Given the description of an element on the screen output the (x, y) to click on. 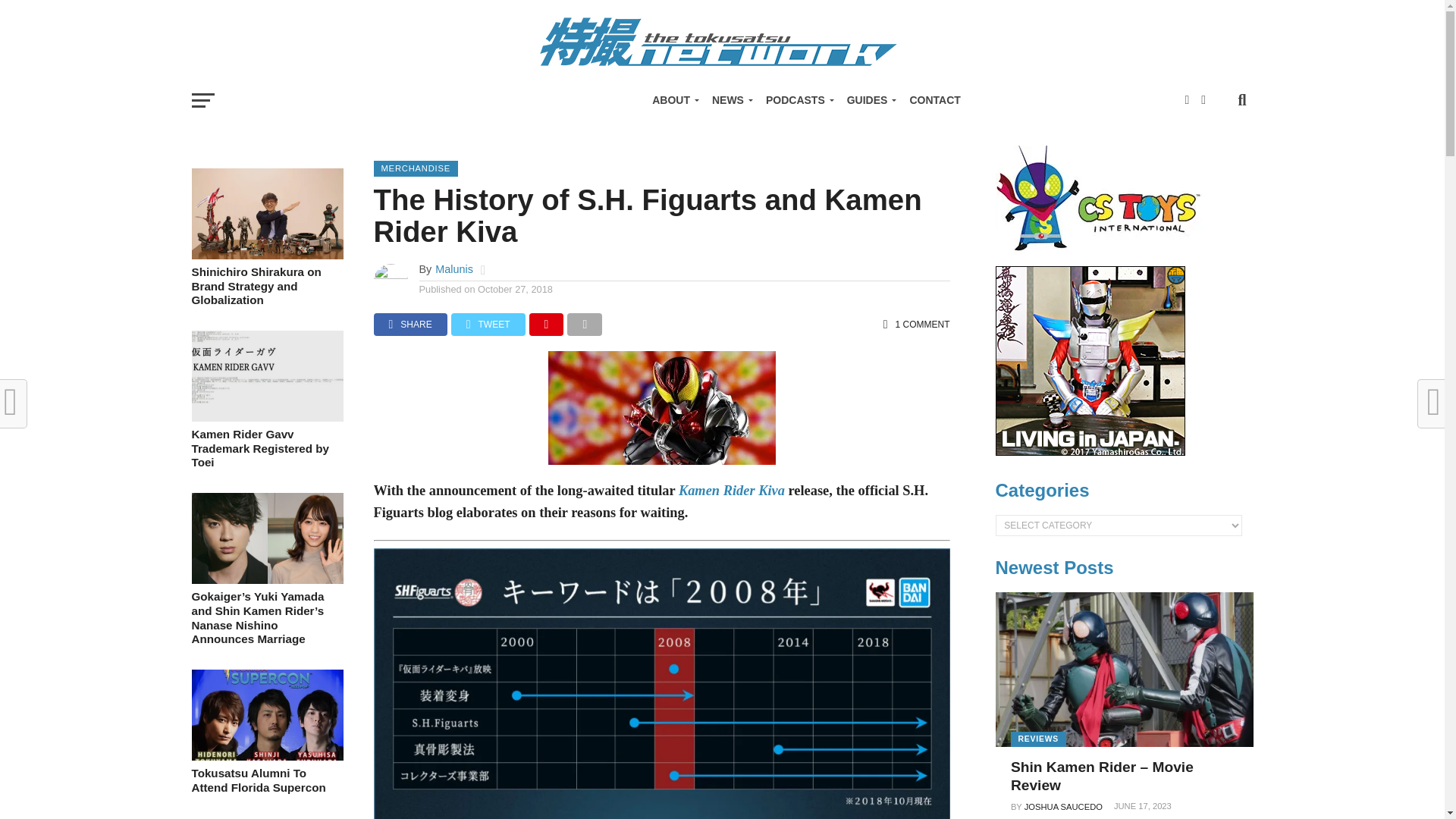
Tokusatsu Alumni To Attend Florida Supercon (266, 756)
CONTACT (934, 99)
GUIDES (869, 99)
NEWS (730, 99)
ABOUT (673, 99)
PODCASTS (797, 99)
Posts by Malunis (454, 268)
Shinichiro Shirakura on Brand Strategy and Globalization (266, 254)
Kamen Rider Gavv Trademark Registered by Toei (266, 417)
